Given the description of an element on the screen output the (x, y) to click on. 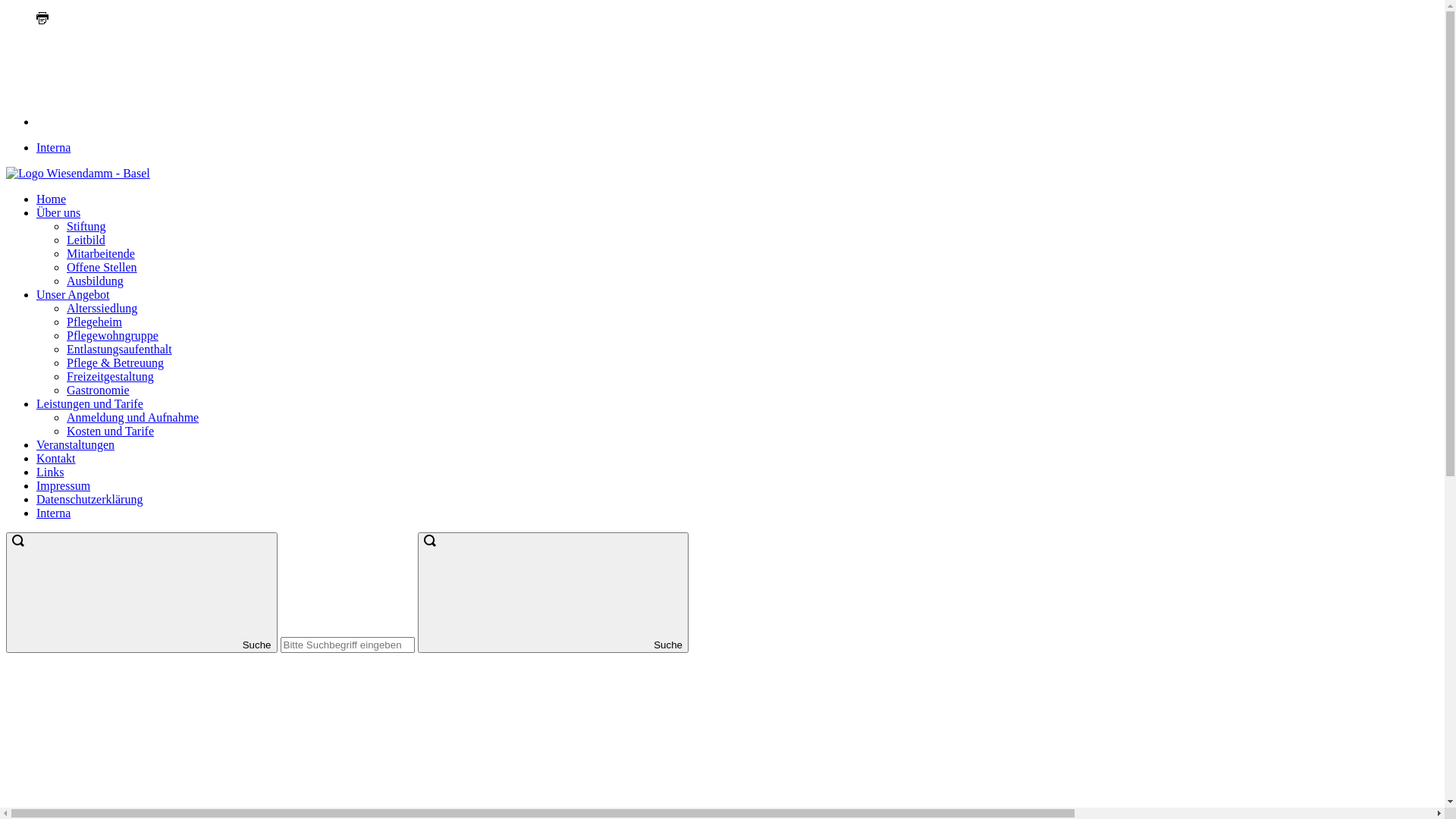
Suche Element type: text (141, 592)
Interna Element type: text (53, 512)
Veranstaltungen Element type: text (75, 444)
Anmeldung und Aufnahme Element type: text (132, 417)
Pflegewohngruppe Element type: text (112, 335)
Pflege & Betreuung Element type: text (114, 362)
Entlastungsaufenthalt Element type: text (119, 348)
Stiftung Element type: text (86, 225)
Kontakt Element type: text (55, 457)
Suche Element type: text (552, 592)
Leitbild Element type: text (85, 239)
Kosten und Tarife Element type: text (109, 430)
Gastronomie Element type: text (97, 389)
Home Element type: text (50, 198)
Alterssiedlung Element type: text (101, 307)
Mitarbeitende Element type: text (100, 253)
Interna Element type: text (53, 147)
Ausbildung Element type: text (94, 280)
Impressum Element type: text (63, 485)
Offene Stellen Element type: text (101, 266)
Pflegeheim Element type: text (94, 321)
Freizeitgestaltung Element type: text (109, 376)
Links Element type: text (49, 471)
Leistungen und Tarife Element type: text (89, 403)
Unser Angebot Element type: text (72, 294)
